Given the description of an element on the screen output the (x, y) to click on. 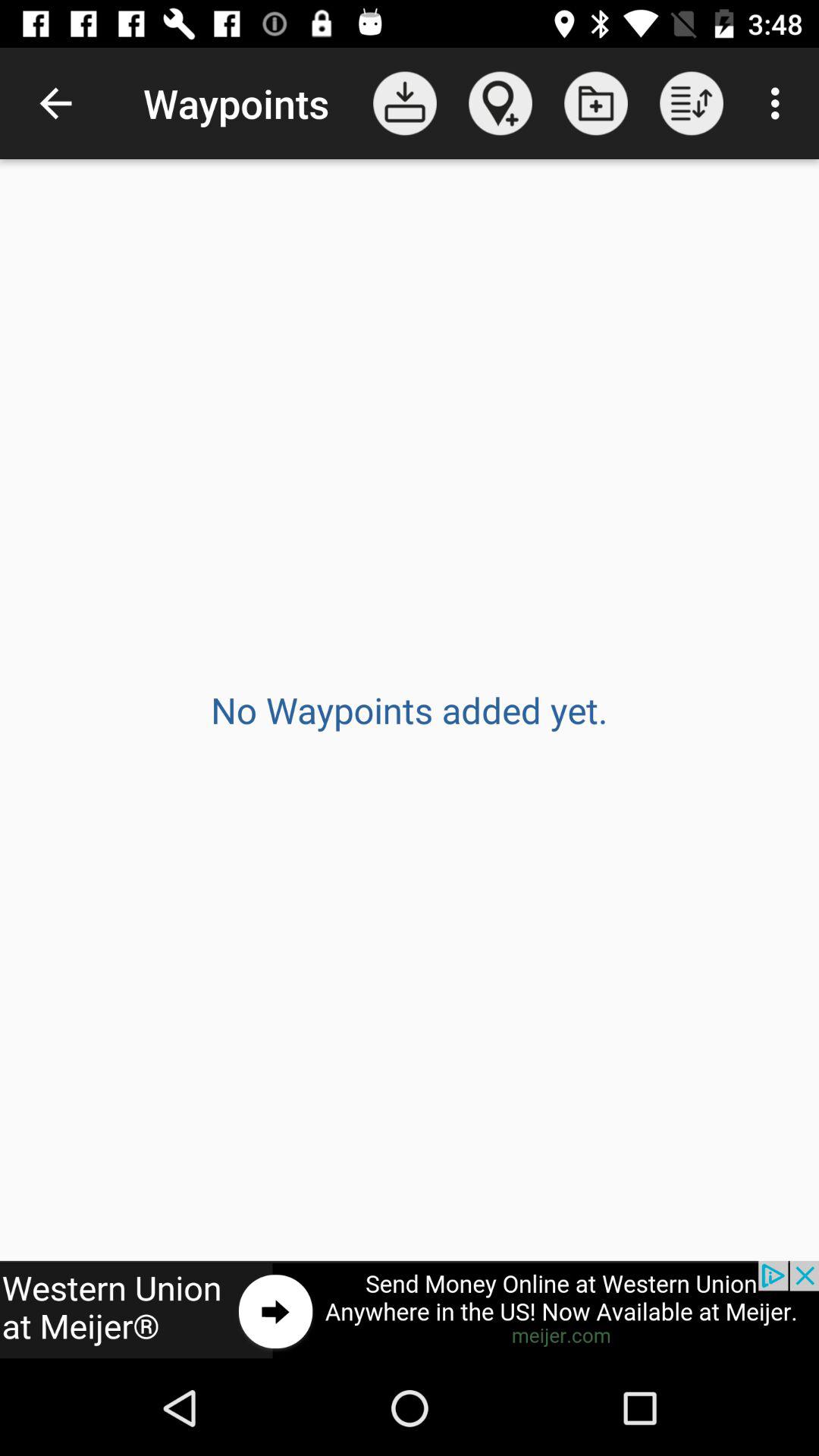
share articlee (409, 1310)
